Given the description of an element on the screen output the (x, y) to click on. 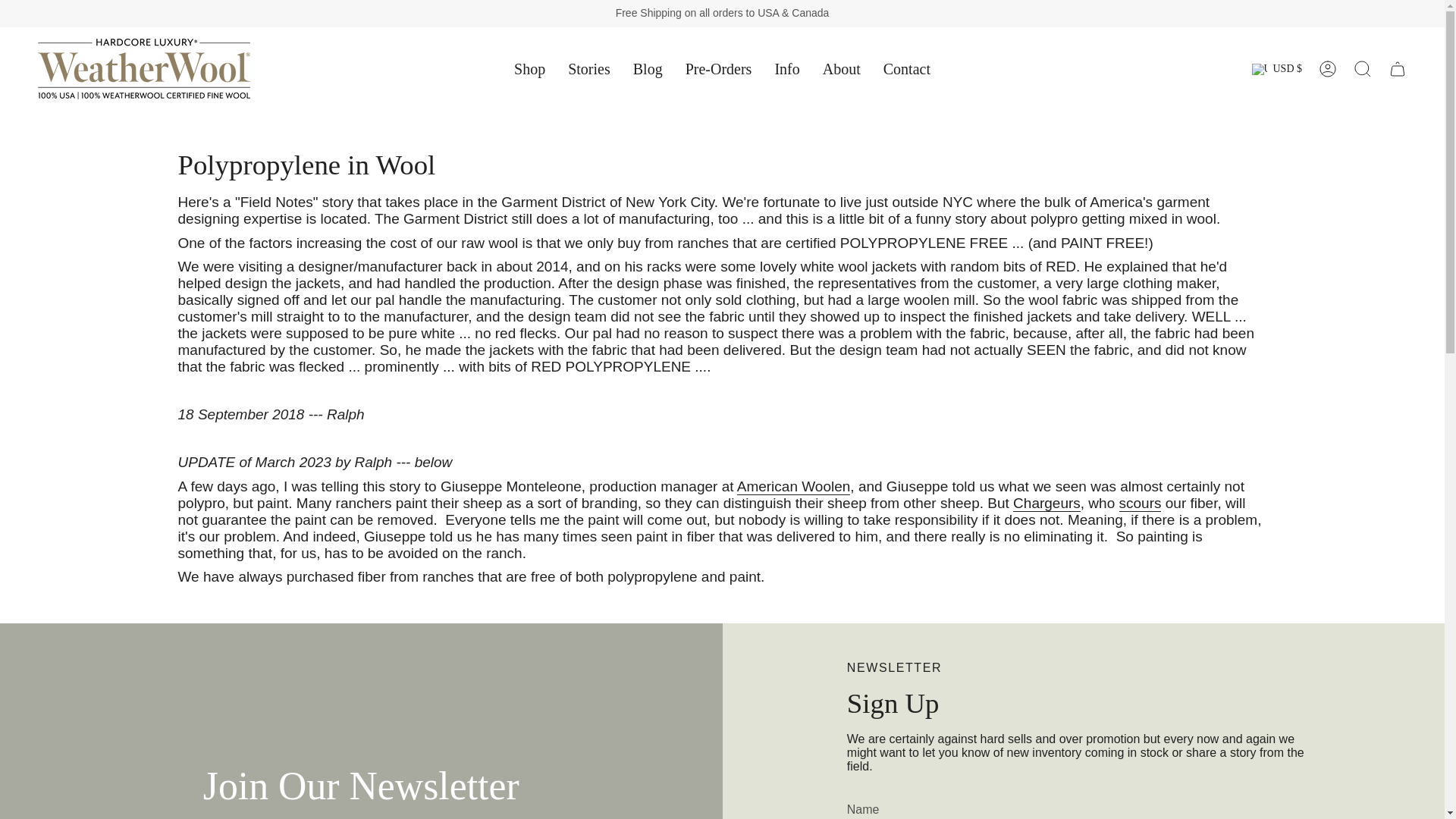
Search (1362, 68)
My Account (1327, 68)
Cart (1397, 68)
